Given the description of an element on the screen output the (x, y) to click on. 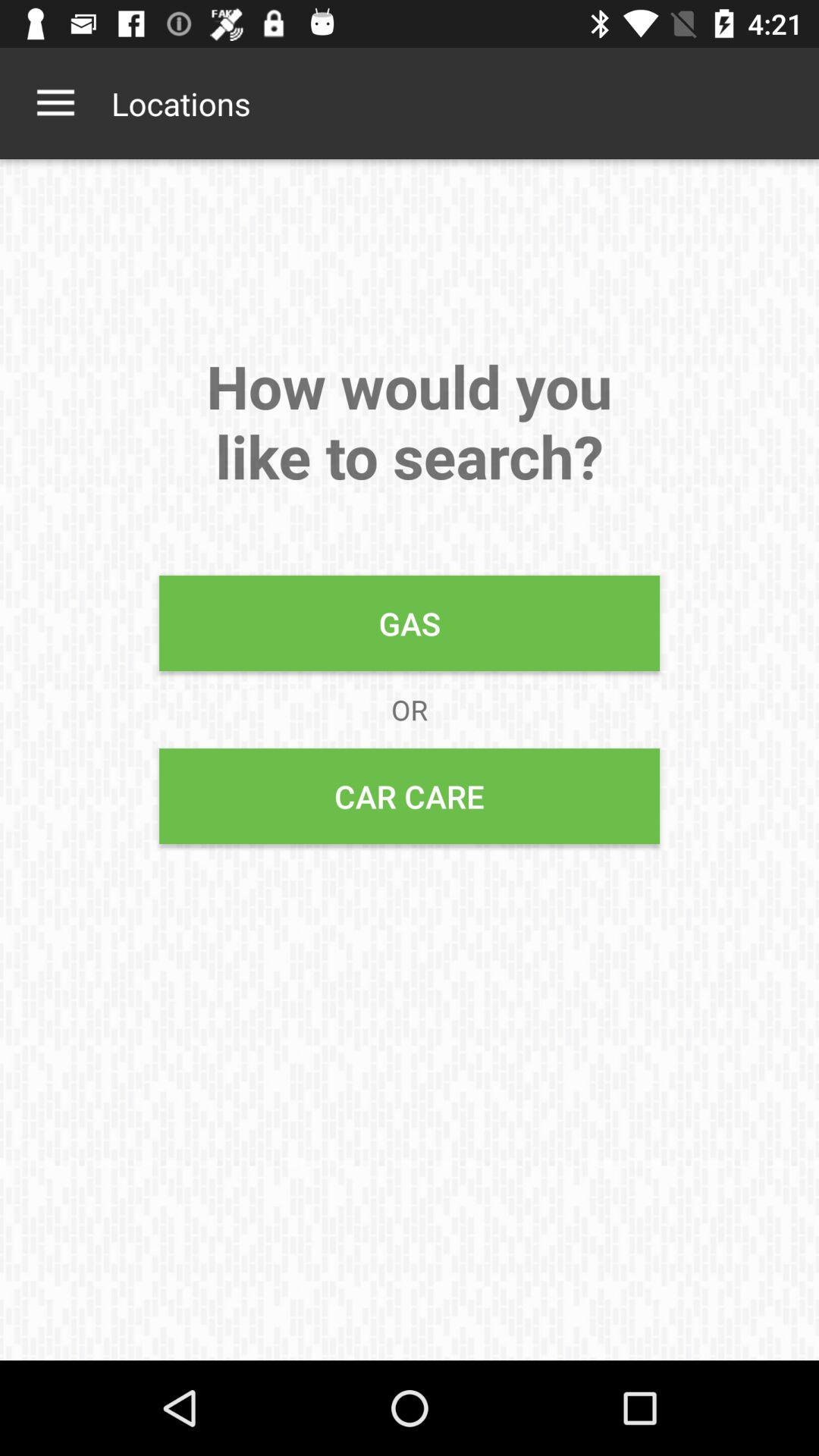
select the item to the left of the locations (55, 103)
